Given the description of an element on the screen output the (x, y) to click on. 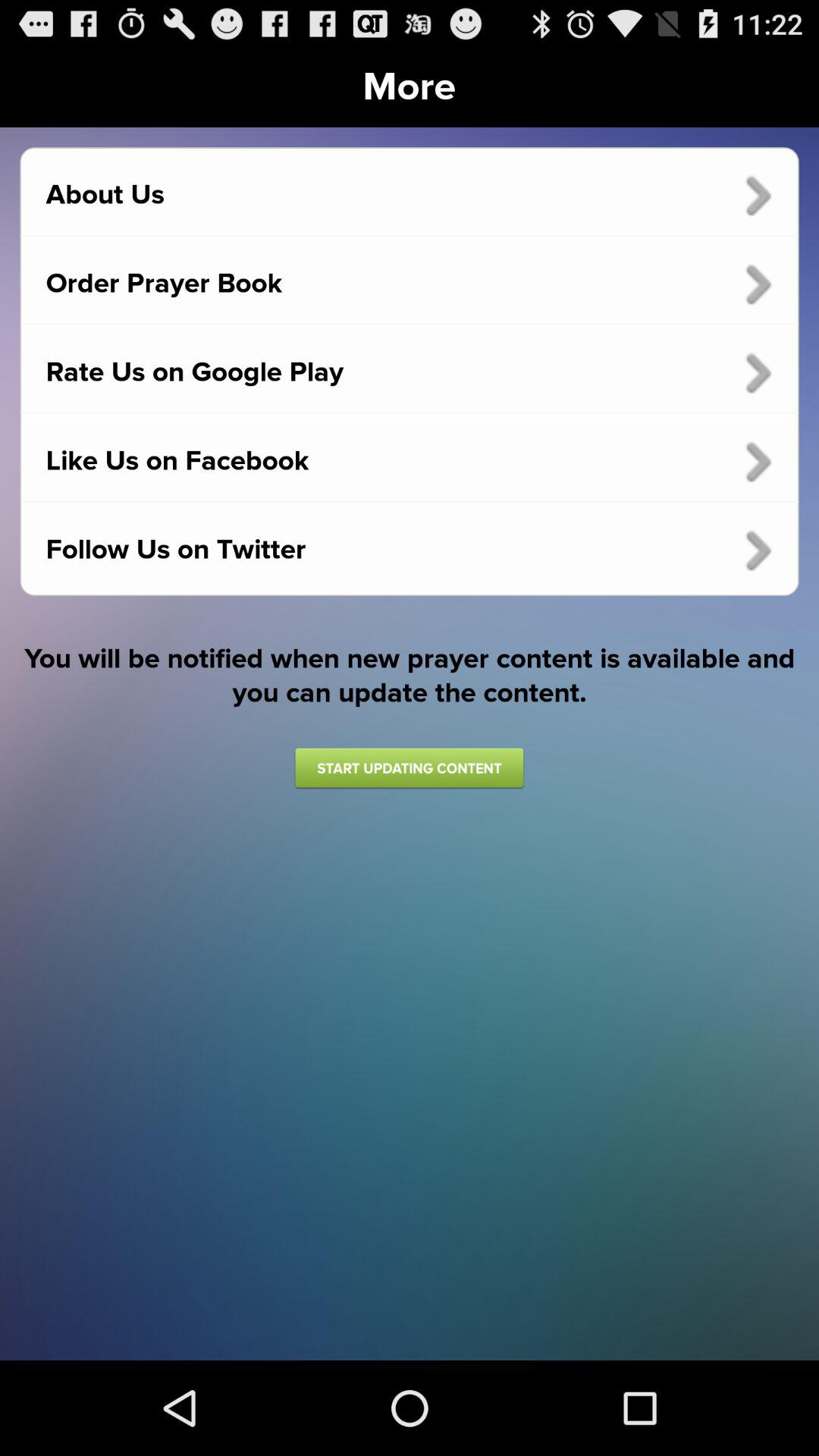
scroll to order prayer book item (409, 283)
